Given the description of an element on the screen output the (x, y) to click on. 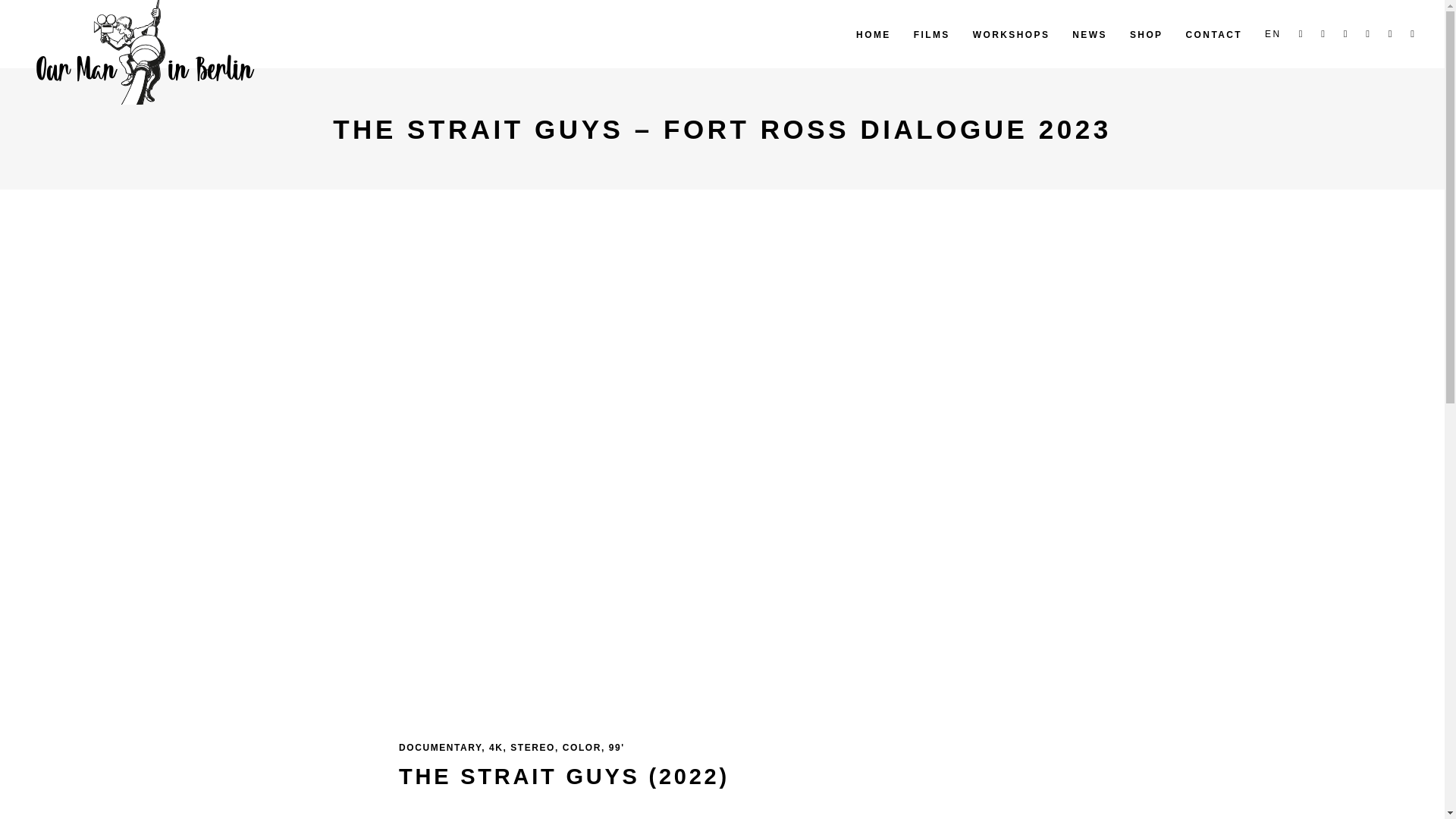
CONTACT (1213, 33)
WORKSHOPS (1010, 33)
